Given the description of an element on the screen output the (x, y) to click on. 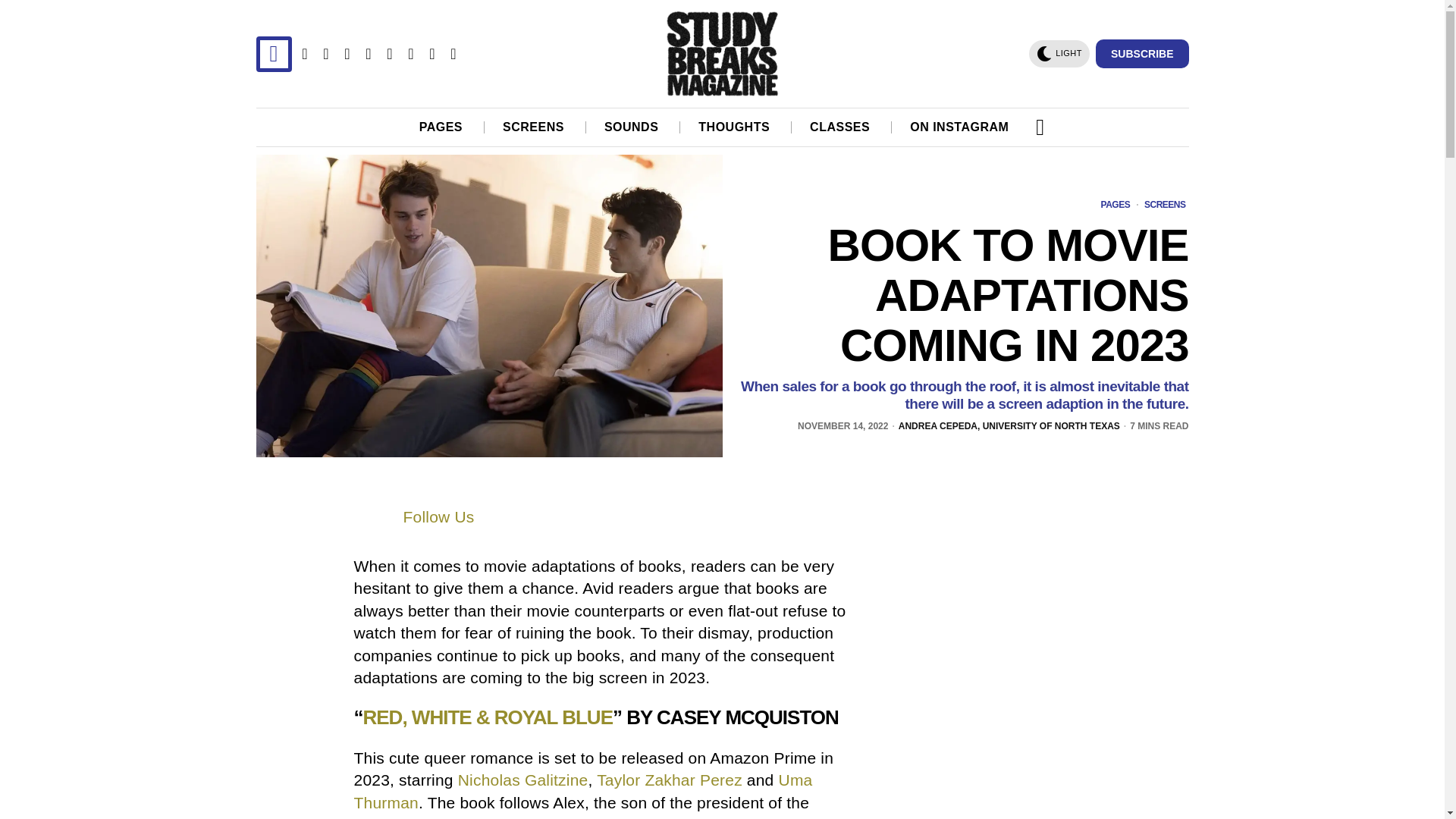
PAGES (441, 127)
ON INSTAGRAM (960, 127)
SCREENS (534, 127)
14 Nov, 2022 08:38:00 (842, 426)
SUBSCRIBE (1142, 53)
CLASSES (840, 127)
THOUGHTS (734, 127)
SOUNDS (632, 127)
